Given the description of an element on the screen output the (x, y) to click on. 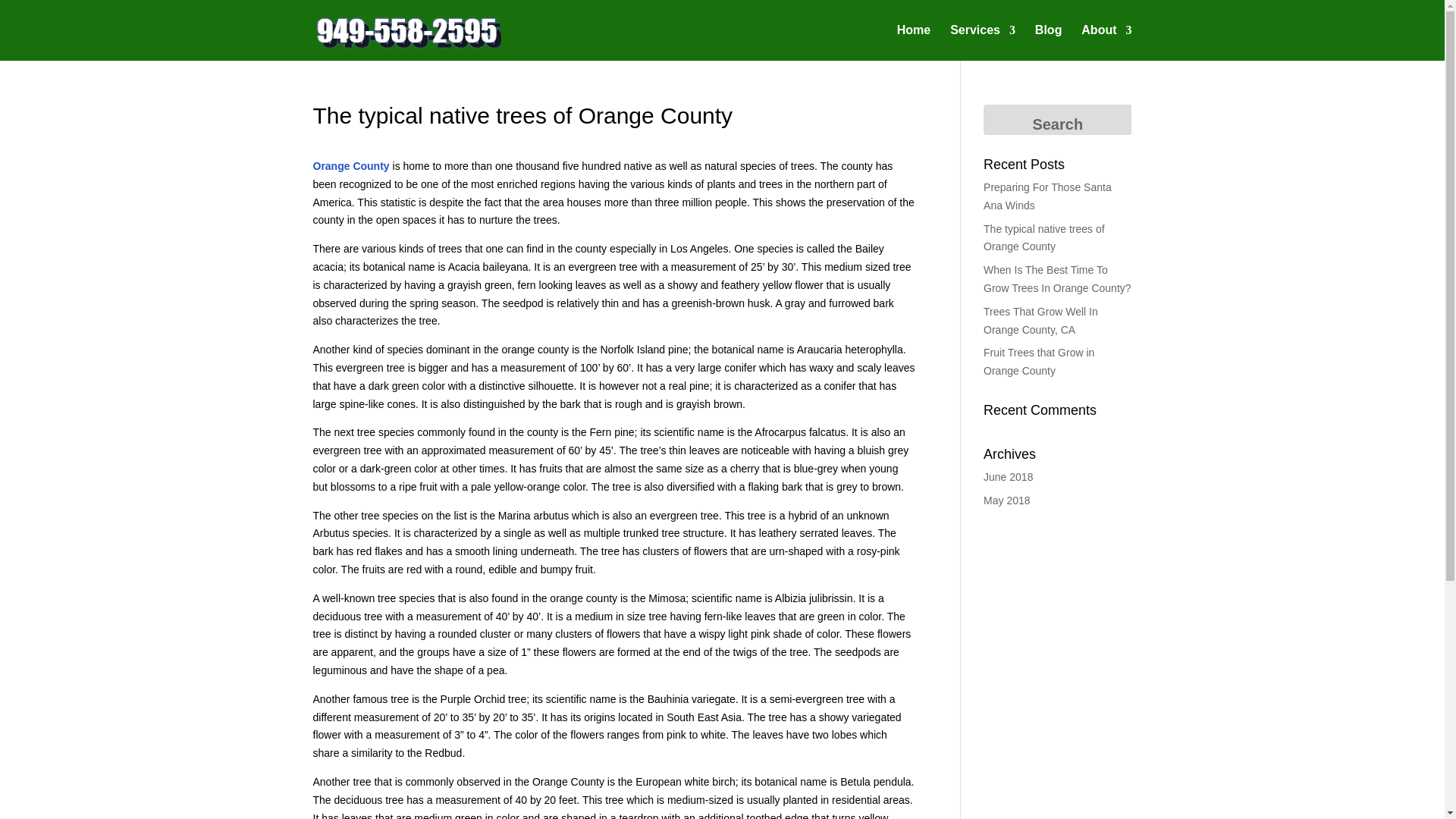
When Is The Best Time To Grow Trees In Orange County? (1057, 278)
Trees That Grow Well In Orange County, CA (1040, 320)
Search (1057, 119)
Search (1057, 119)
Orange County (350, 165)
About (1106, 42)
Services (982, 42)
Preparing For Those Santa Ana Winds (1048, 195)
Fruit Trees that Grow in Orange County (1039, 361)
The typical native trees of Orange County (1044, 237)
May 2018 (1006, 500)
Home (913, 42)
June 2018 (1008, 476)
